Given the description of an element on the screen output the (x, y) to click on. 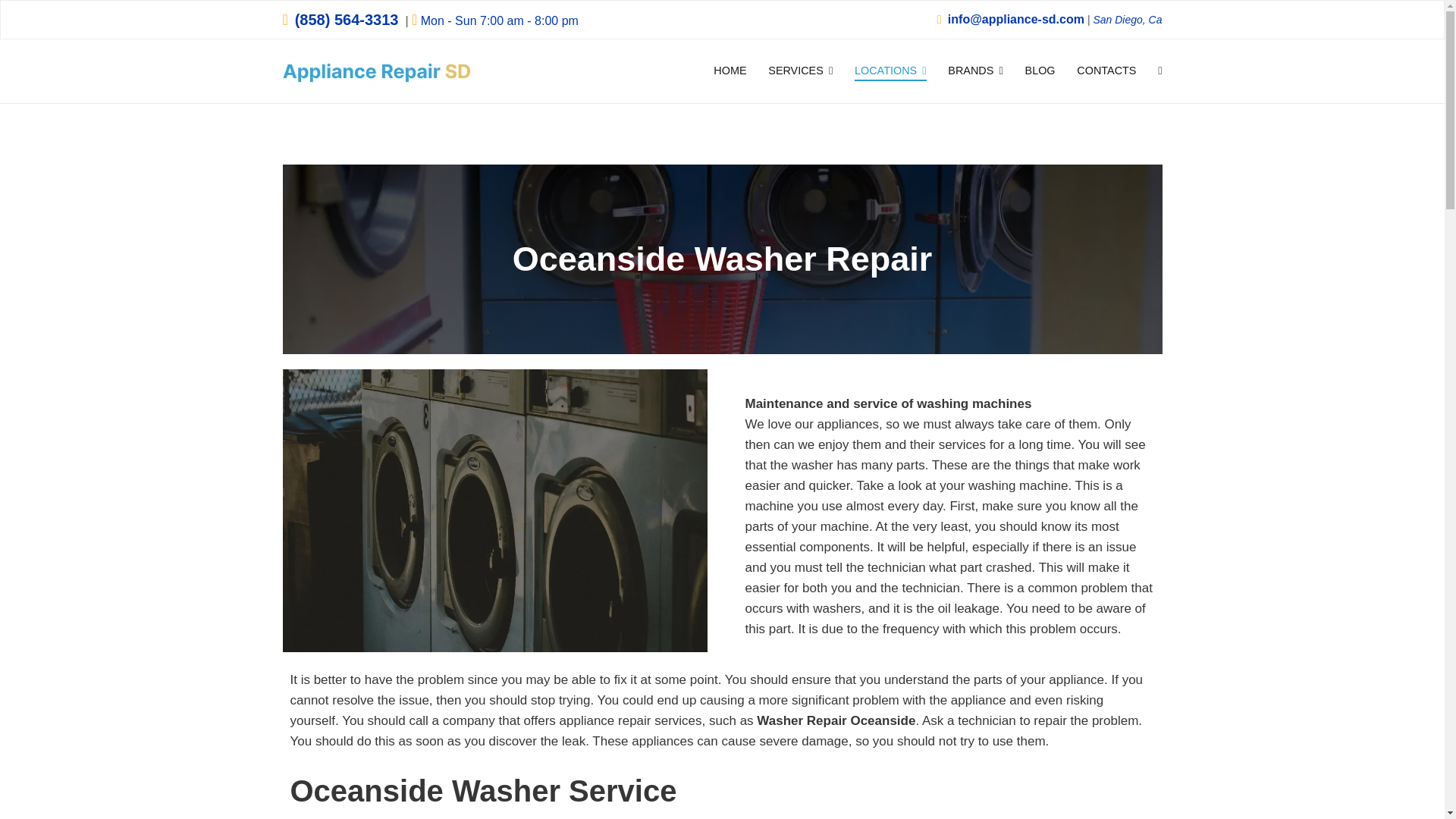
Appliance Repair SD (553, 81)
San Diego, Ca (1127, 19)
HOME (729, 71)
LOCATIONS (890, 71)
SERVICES (800, 71)
